Given the description of an element on the screen output the (x, y) to click on. 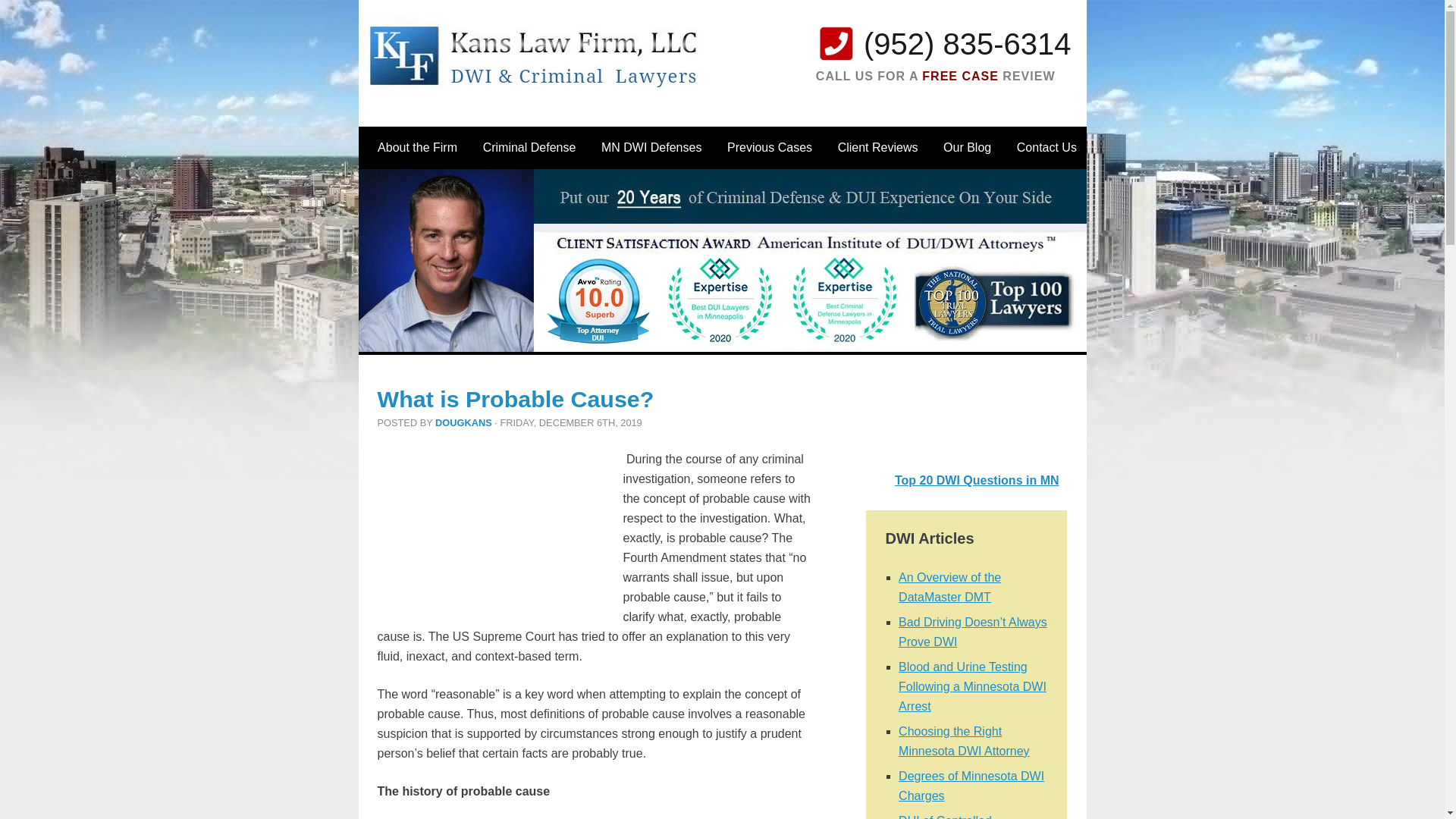
Blood and Urine Testing Following a Minnesota DWI Arrest (972, 686)
Criminal Defense (529, 147)
What is Probable Cause? (515, 398)
DUI of Controlled Substances in Minnesota (965, 816)
dougkans (463, 422)
Previous Cases (769, 147)
Choosing the Right Minnesota DWI Attorney (963, 740)
Our Blog (967, 147)
Degrees of Minnesota DWI Charges (970, 785)
An Overview of the DataMaster DMT (949, 586)
DOUGKANS (463, 422)
About the Firm (417, 147)
MN DWI Defenses (651, 147)
Client Reviews (877, 147)
Top 20 DWI Questions in MN (977, 480)
